Given the description of an element on the screen output the (x, y) to click on. 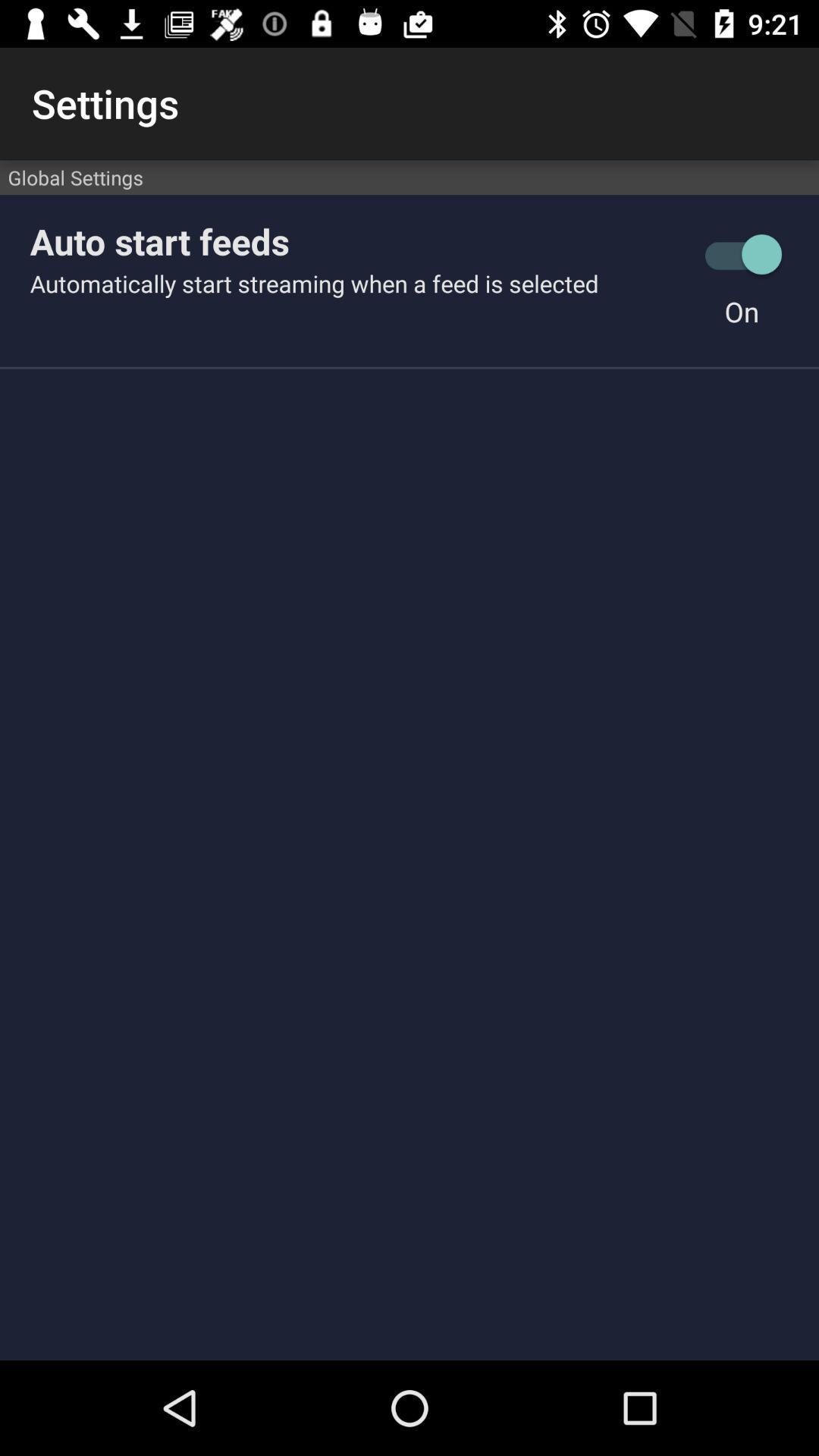
flip to the on (741, 311)
